Given the description of an element on the screen output the (x, y) to click on. 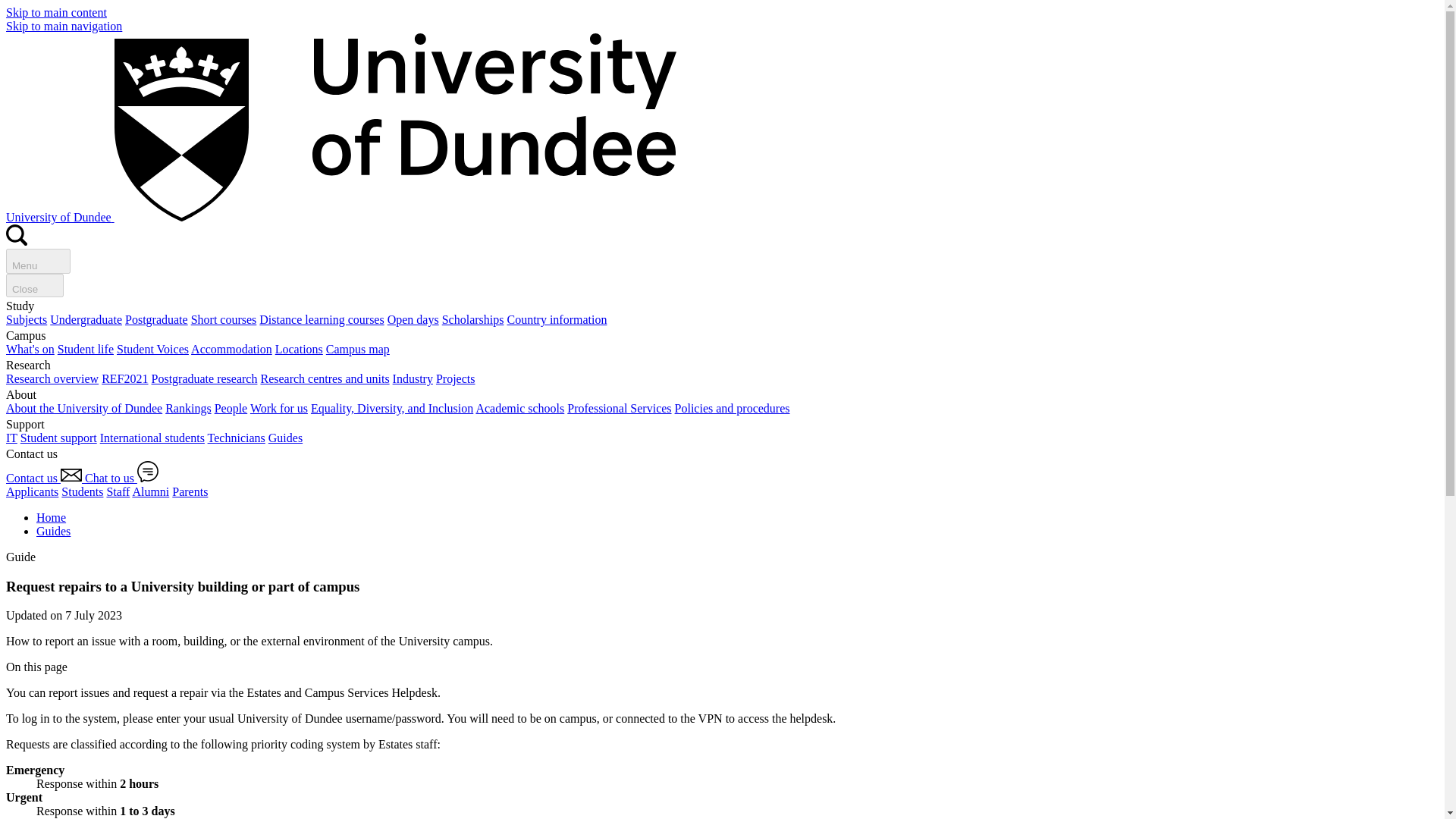
Research overview (52, 378)
Equality, Diversity, and Inclusion (392, 408)
Professional Services (619, 408)
Menu (37, 260)
Technicians (236, 437)
University of Dundee logo (396, 127)
Country information (556, 318)
Close close (34, 285)
Industry (412, 378)
Scholarships (472, 318)
Student Voices (152, 349)
Guides (284, 437)
Search (16, 241)
